Given the description of an element on the screen output the (x, y) to click on. 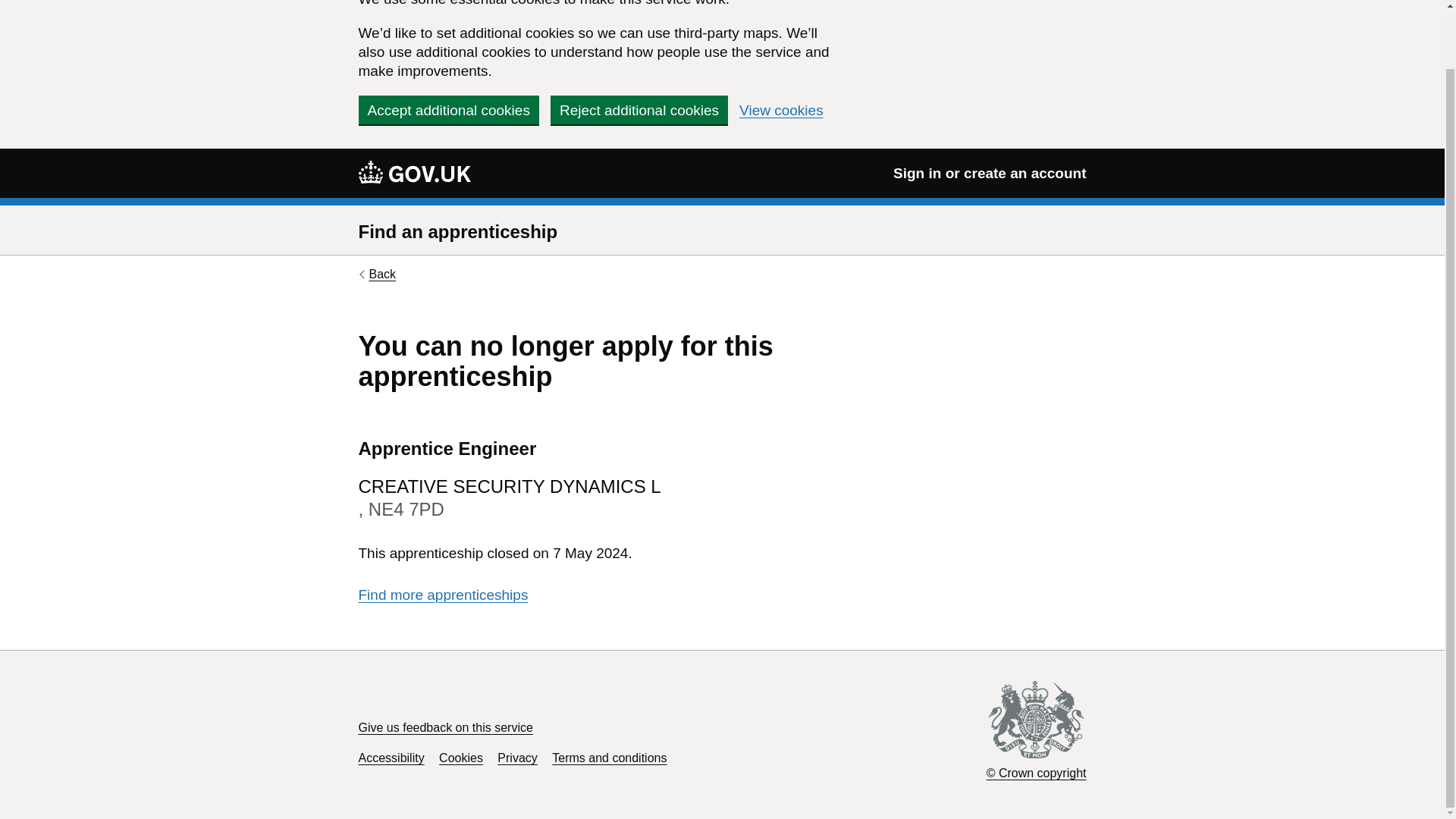
Cookies (461, 757)
Back (377, 273)
Find more apprenticeships (442, 594)
View cookies (781, 110)
Accept additional cookies (448, 109)
Privacy (517, 757)
Accessibility (390, 757)
Sign in or create an account (989, 172)
Reject additional cookies (639, 109)
Give us feedback on this service (445, 727)
GOV.UK (414, 172)
GOV.UK (414, 171)
Terms and conditions (608, 757)
